Given the description of an element on the screen output the (x, y) to click on. 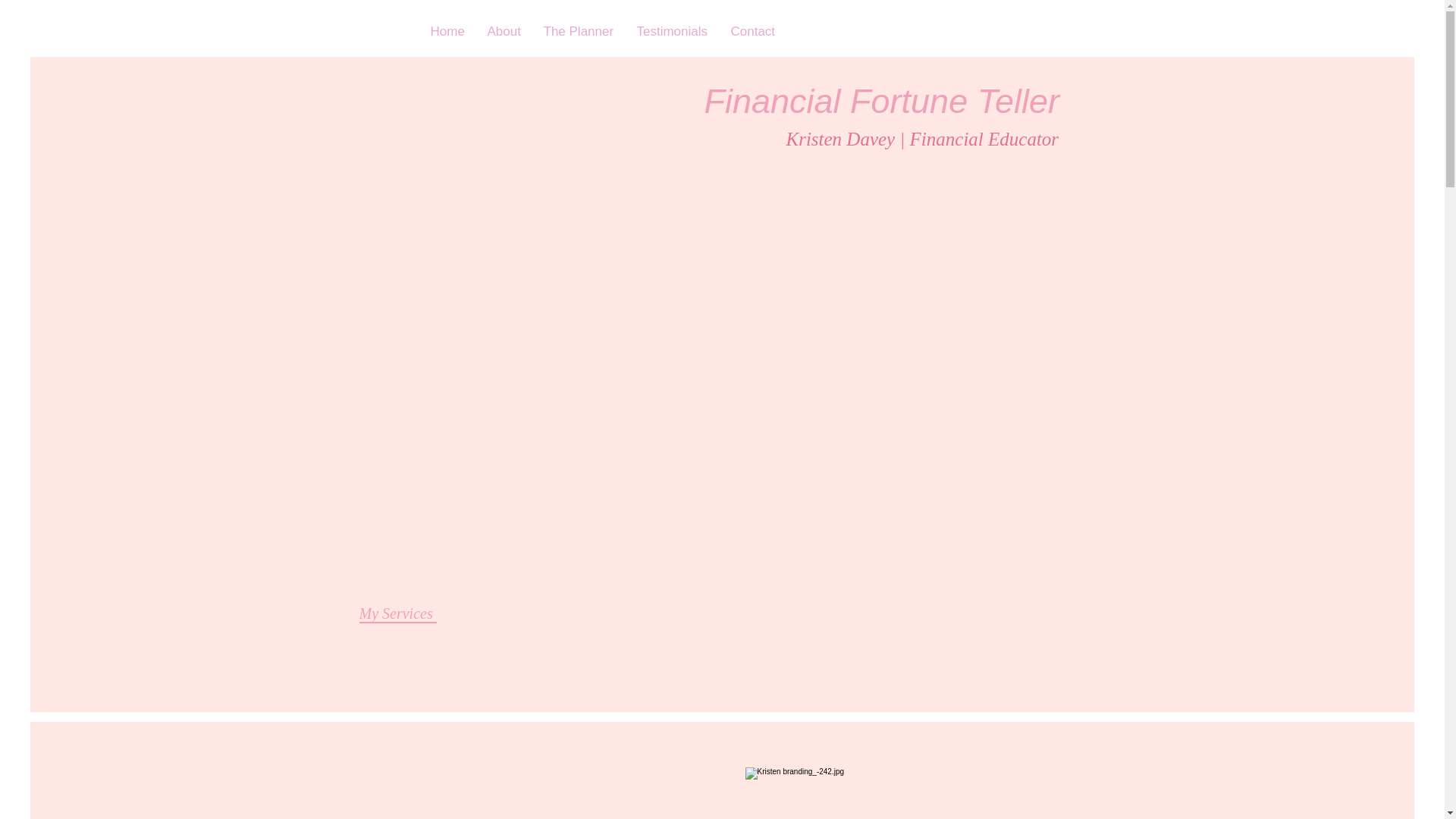
Home (447, 31)
Testimonials (671, 31)
My Services (399, 612)
The Planner (579, 31)
Contact (752, 31)
About (504, 31)
